Given the description of an element on the screen output the (x, y) to click on. 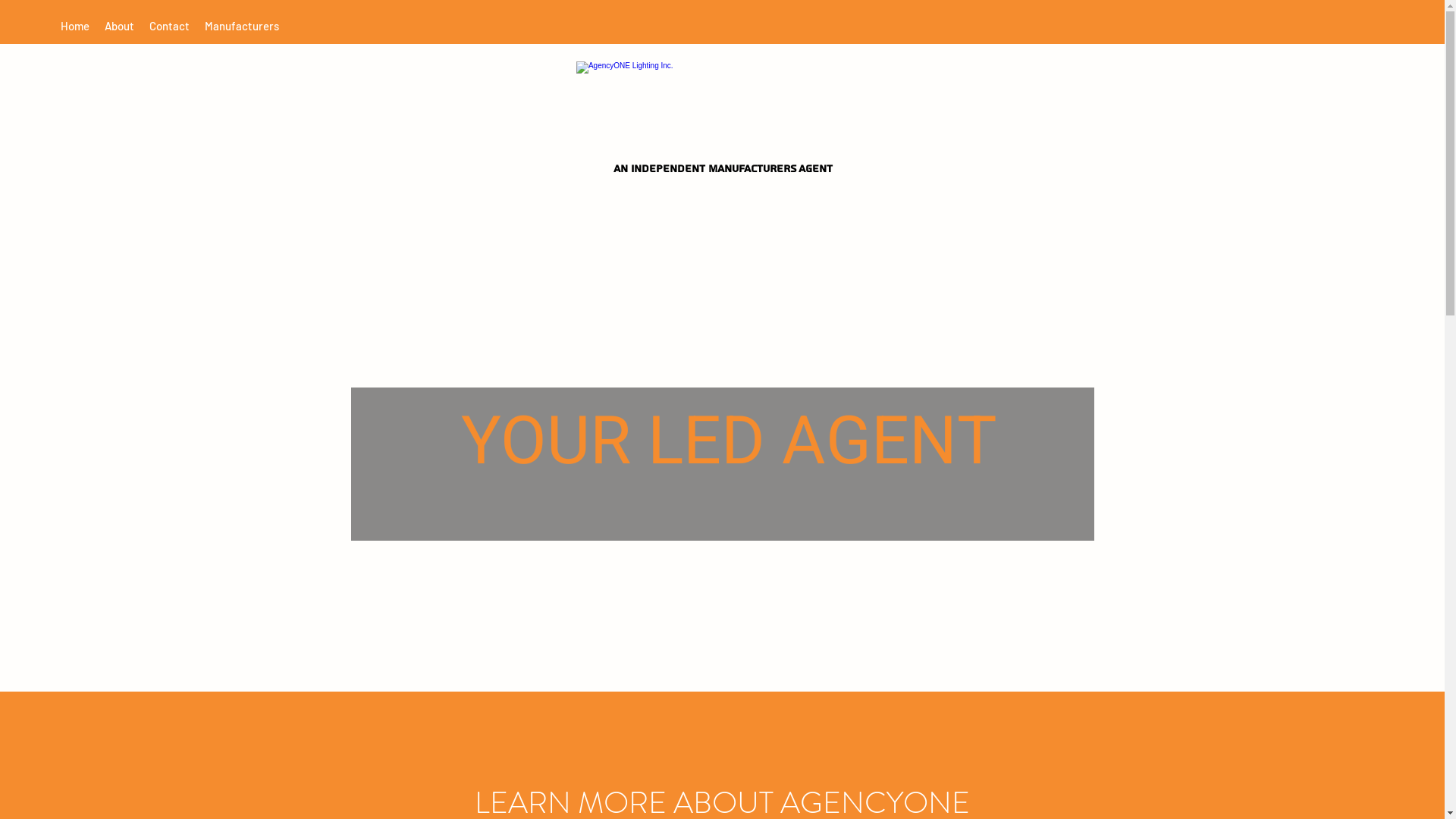
Contact Element type: text (169, 25)
About Element type: text (119, 25)
Manufacturers Element type: text (241, 25)
Home Element type: text (75, 25)
